Given the description of an element on the screen output the (x, y) to click on. 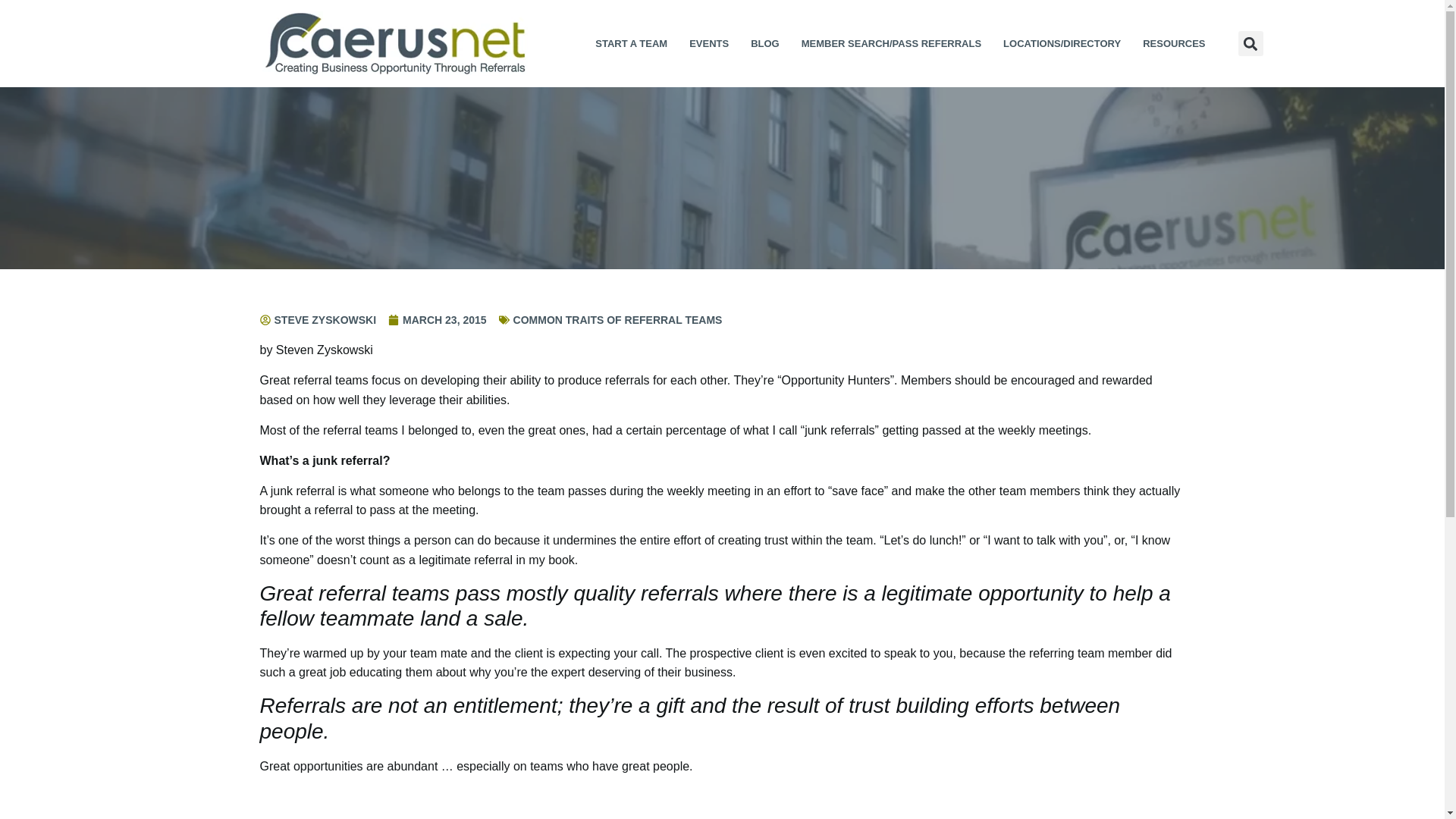
START A TEAM (631, 43)
EVENTS (708, 43)
BLOG (765, 43)
RESOURCES (1173, 43)
